Given the description of an element on the screen output the (x, y) to click on. 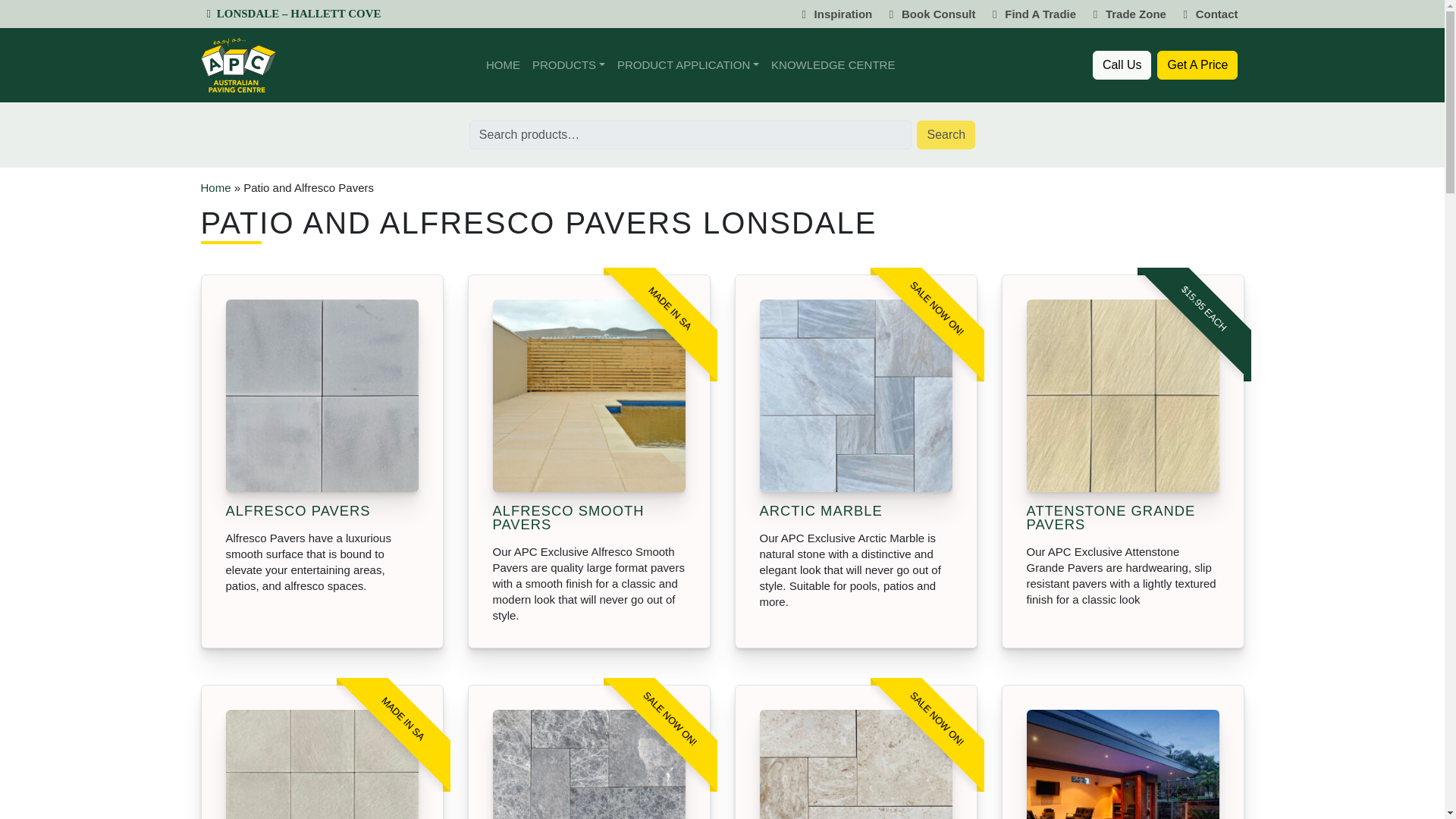
Contact (1208, 13)
Find A Tradie (1031, 13)
Inspiration (833, 13)
Find A Tradie (1031, 13)
Contact (1208, 13)
Trade Zone (1126, 13)
PRODUCT APPLICATION (688, 64)
HOME (502, 64)
Book Consult (929, 13)
Trade Zone (1126, 13)
